Given the description of an element on the screen output the (x, y) to click on. 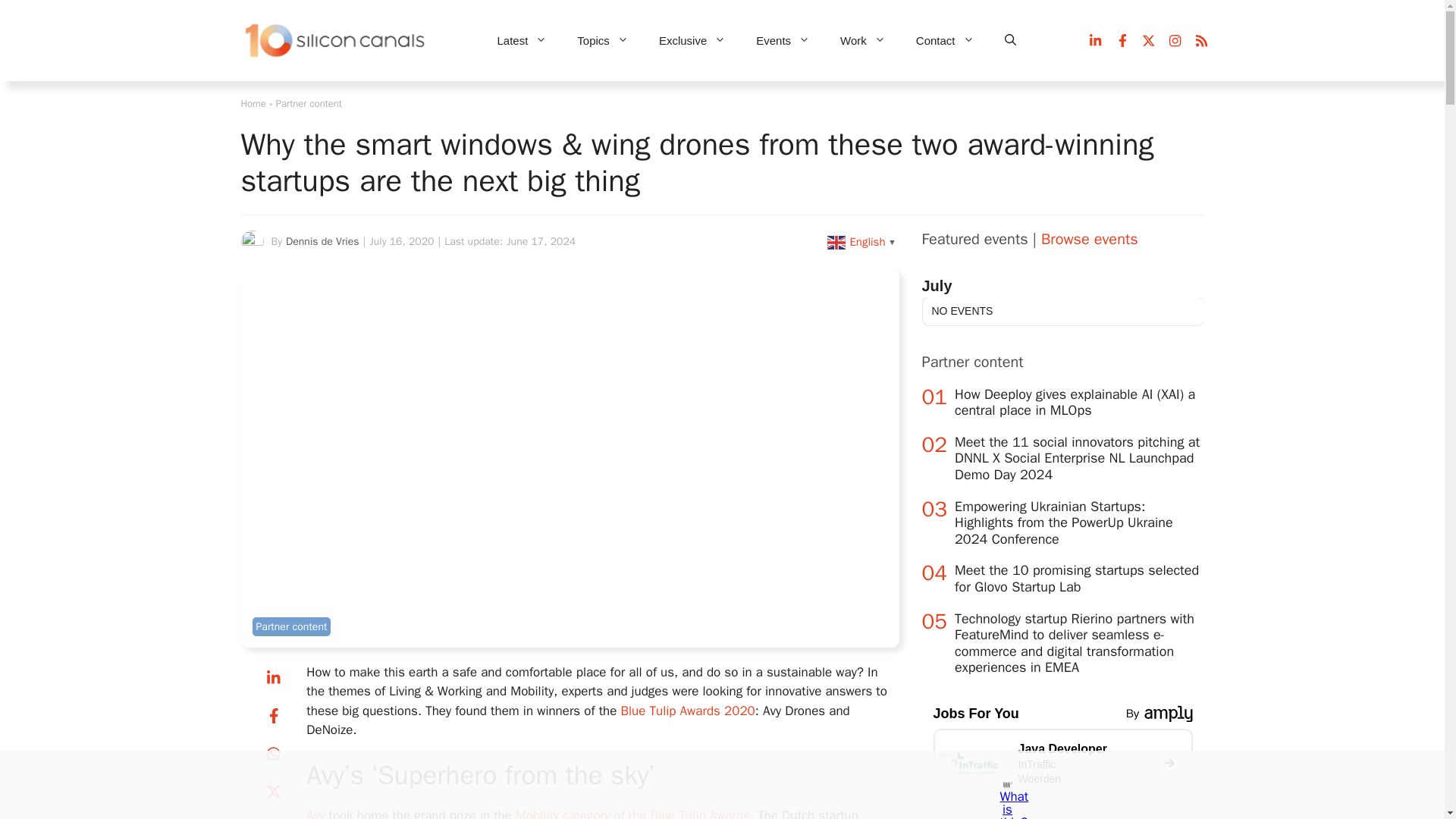
3rd party ad content (708, 785)
Topics (602, 40)
SC 10 year horizontal (335, 40)
Latest (521, 40)
Events (783, 40)
Work (863, 40)
Exclusive (692, 40)
